Given the description of an element on the screen output the (x, y) to click on. 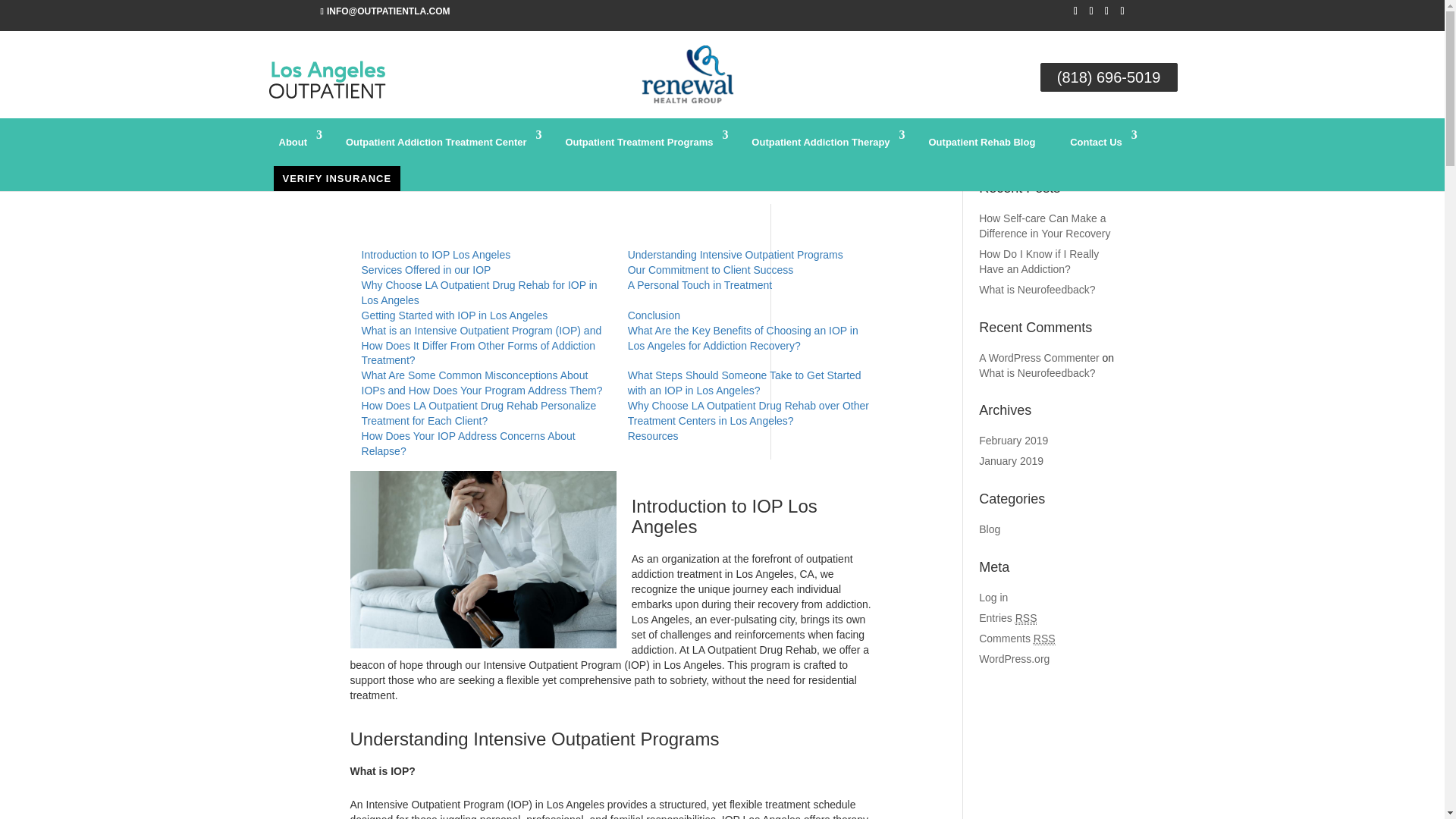
Introduction to IOP Los Angeles (436, 254)
Outpatient Addiction Therapy (821, 147)
Understanding Intensive Outpatient Programs (735, 254)
Outpatient Treatment Programs (640, 147)
Really Simple Syndication (1025, 617)
Search (1097, 142)
Contact Us (1097, 147)
VERIFY INSURANCE (336, 178)
Outpatient Addiction Treatment Center (437, 147)
Really Simple Syndication (1044, 638)
About (293, 147)
Outpatient Rehab Blog (981, 147)
